Given the description of an element on the screen output the (x, y) to click on. 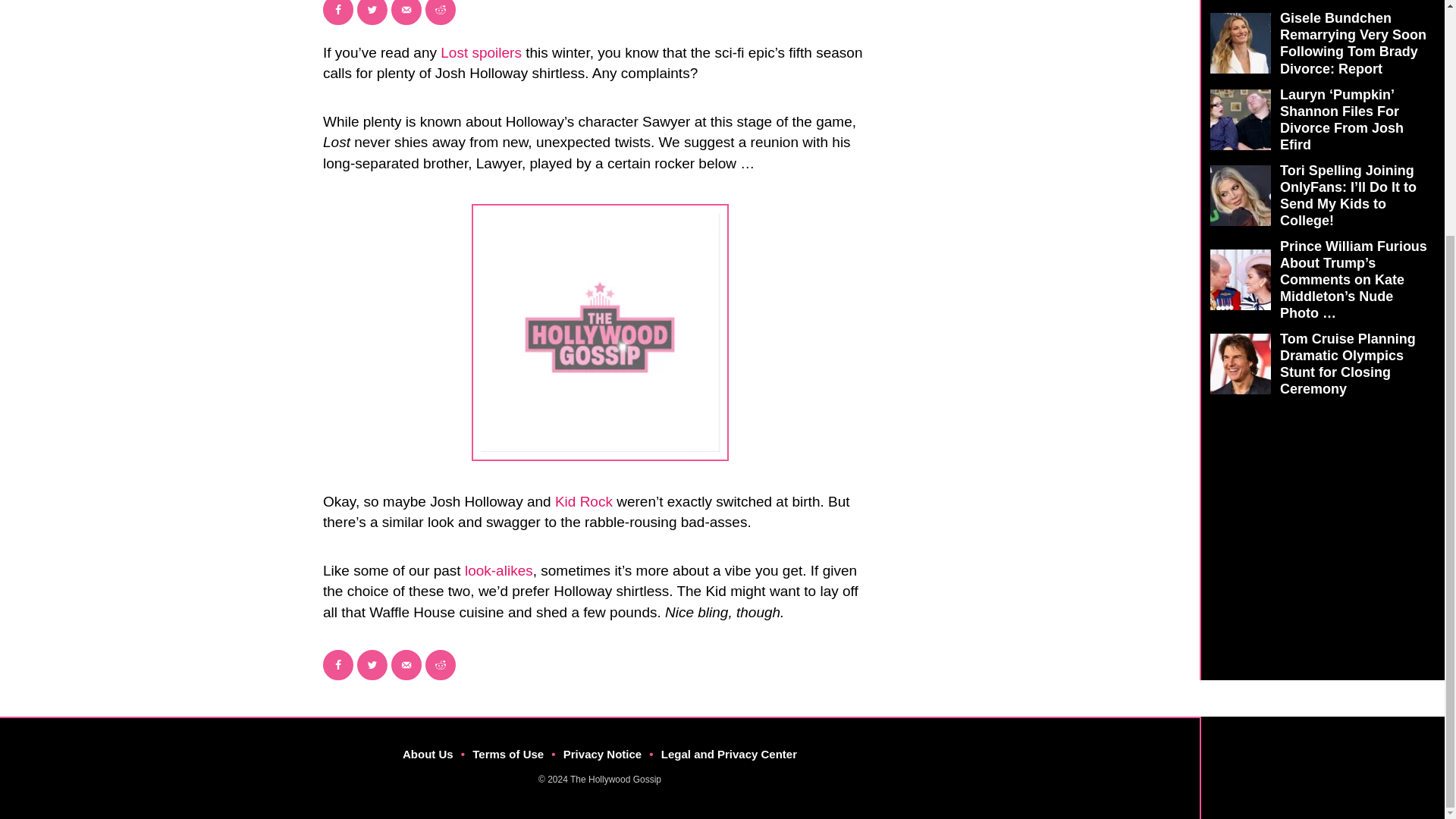
Send over email (406, 665)
Send over email (406, 12)
Lost spoilers (481, 52)
Share on Twitter (371, 12)
Share on Facebook (338, 12)
Share on Twitter (371, 665)
Share on Reddit (440, 12)
Share on Facebook (338, 665)
Share on Reddit (440, 665)
